Given the description of an element on the screen output the (x, y) to click on. 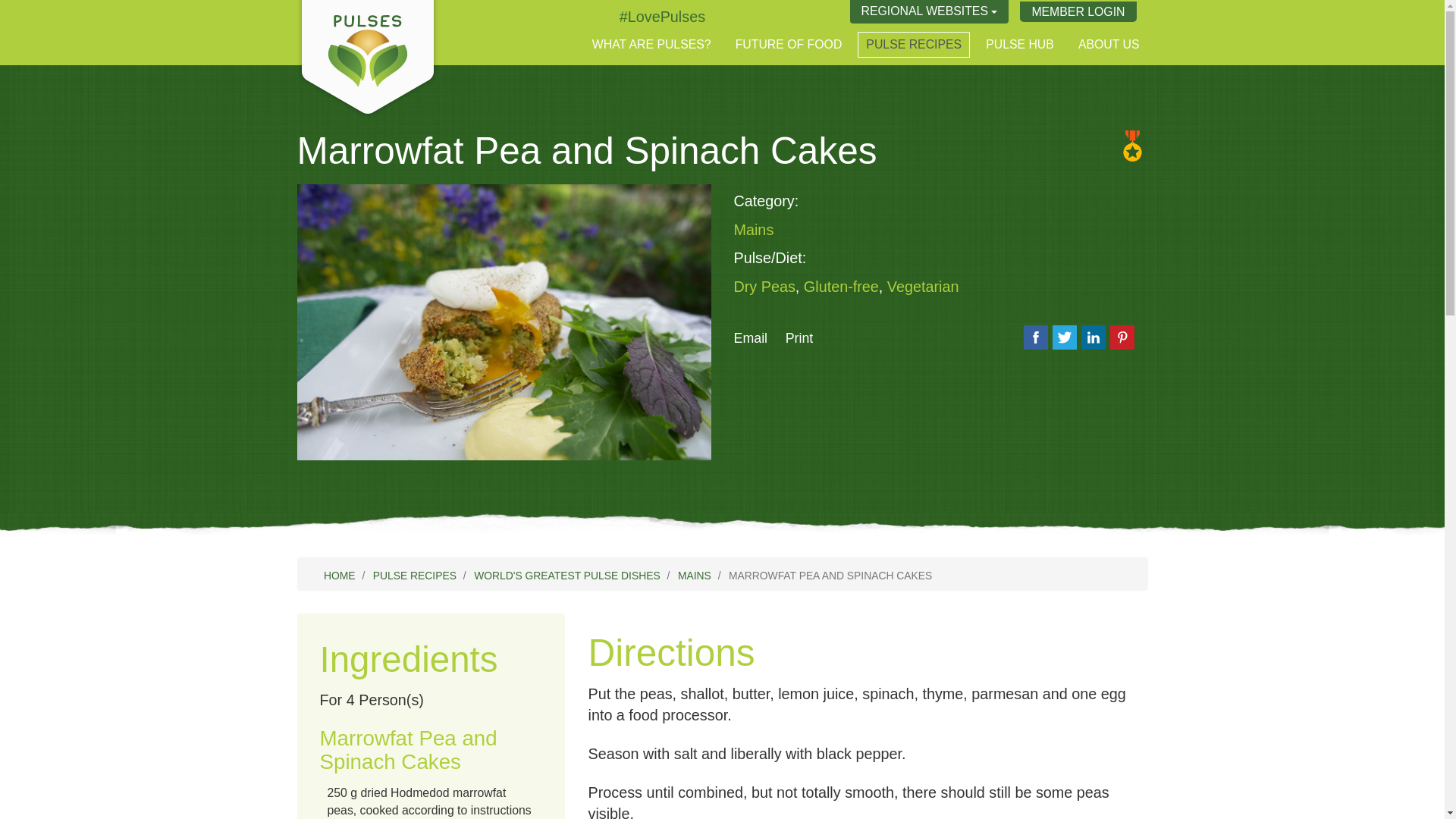
Vegetarian (922, 286)
Share on LinkedIn (1093, 337)
Share on Facebook (1035, 337)
Print (799, 337)
Share on Twitter (1064, 337)
Email (750, 337)
Mains (753, 229)
Gluten-free (841, 286)
Dry Peas (763, 286)
Twitter (662, 16)
